Given the description of an element on the screen output the (x, y) to click on. 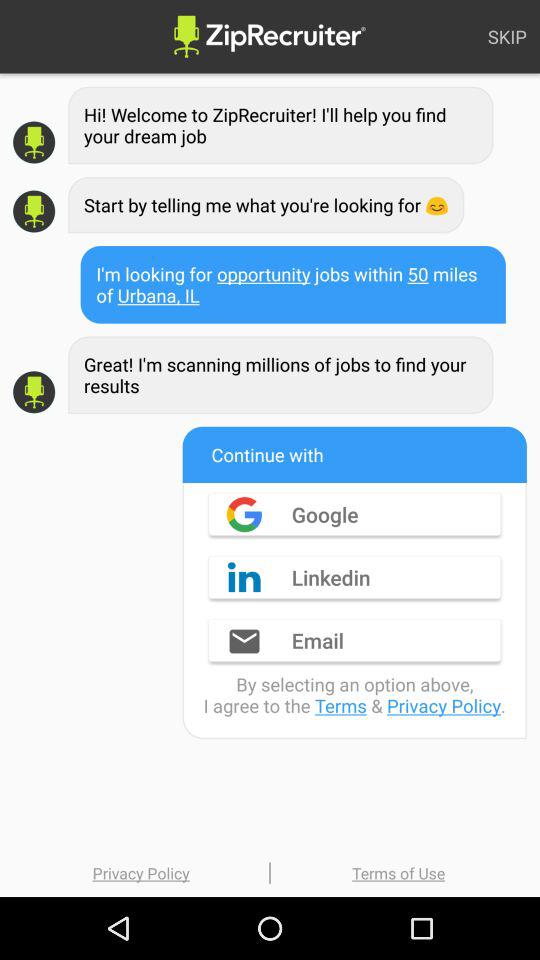
turn on by selecting an (354, 694)
